Given the description of an element on the screen output the (x, y) to click on. 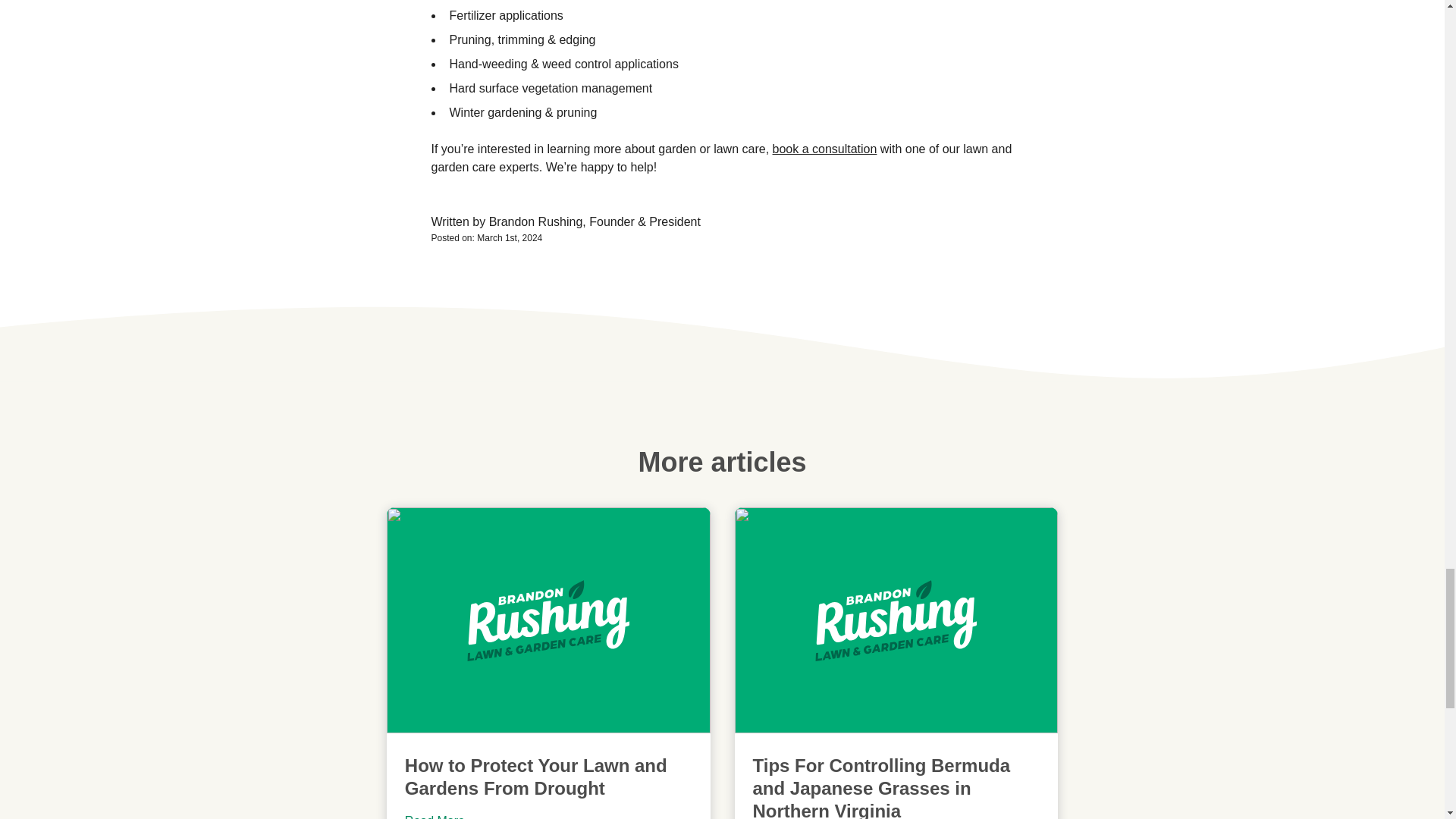
book a consultation (825, 148)
